Given the description of an element on the screen output the (x, y) to click on. 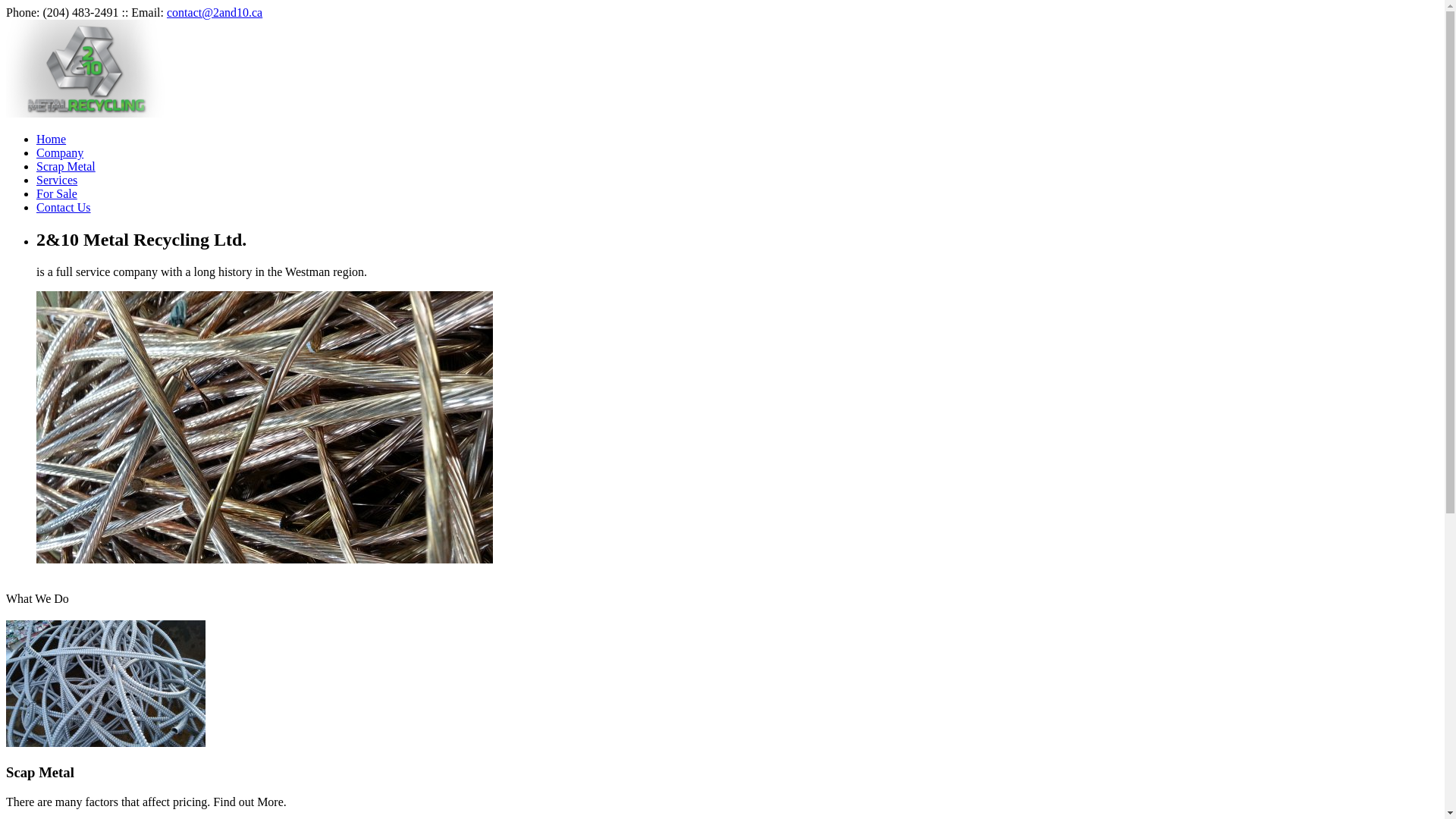
Home Element type: text (50, 138)
Services Element type: text (56, 179)
Company Element type: text (59, 152)
Scrap Metal Element type: text (65, 166)
For Sale Element type: text (56, 193)
Contact Us Element type: text (63, 206)
contact@2and10.ca Element type: text (214, 12)
